Given the description of an element on the screen output the (x, y) to click on. 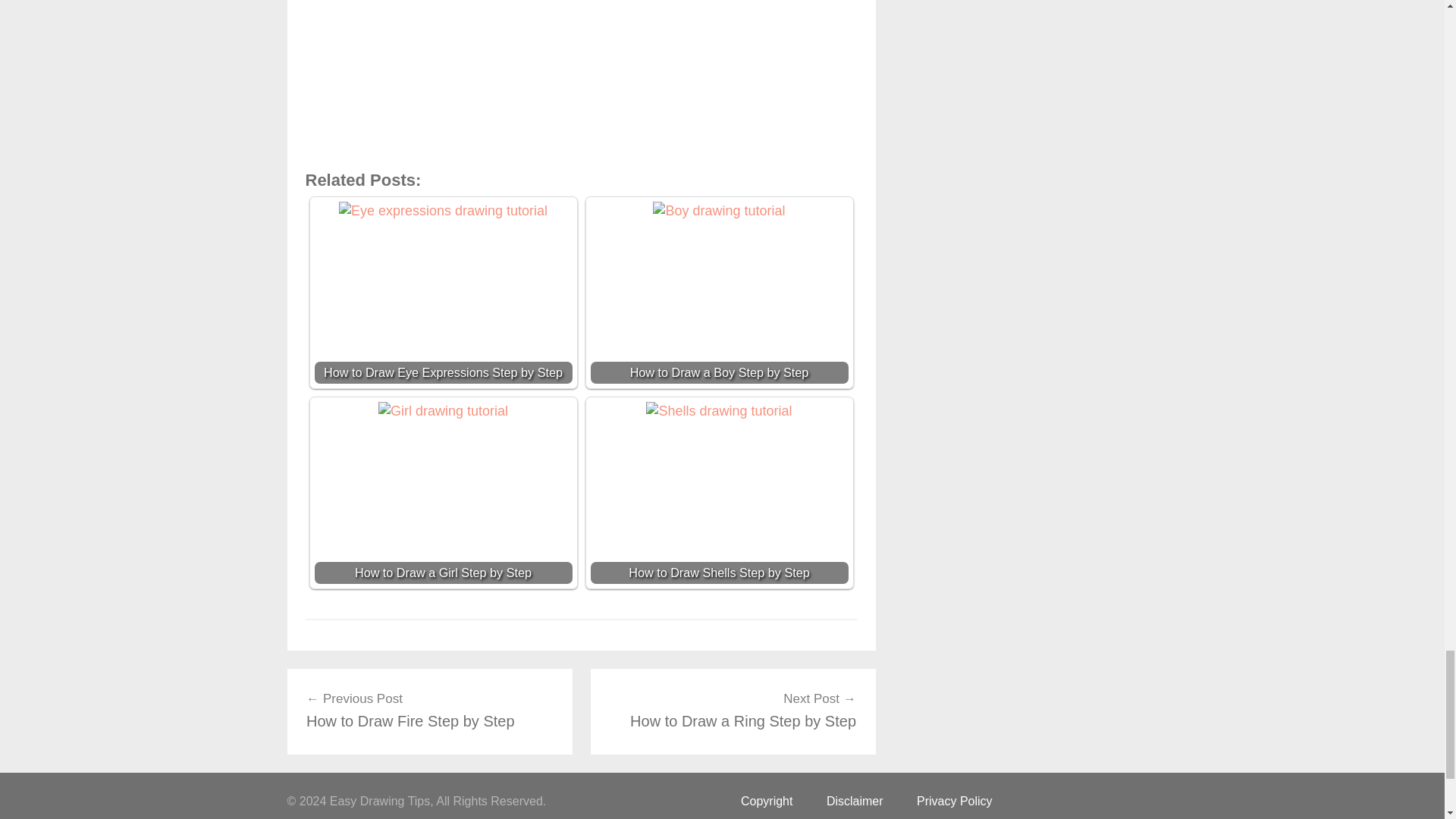
How to Draw Eye Expressions Step by Step (443, 292)
How to Draw Shells Step by Step (718, 492)
How to Draw a Boy Step by Step (733, 709)
How to Draw a Girl Step by Step (718, 210)
How to Draw Shells Step by Step (443, 492)
How to Draw a Girl Step by Step (719, 411)
How to Draw a Boy Step by Step (443, 411)
How to Draw Eye Expressions Step by Step (429, 709)
